Given the description of an element on the screen output the (x, y) to click on. 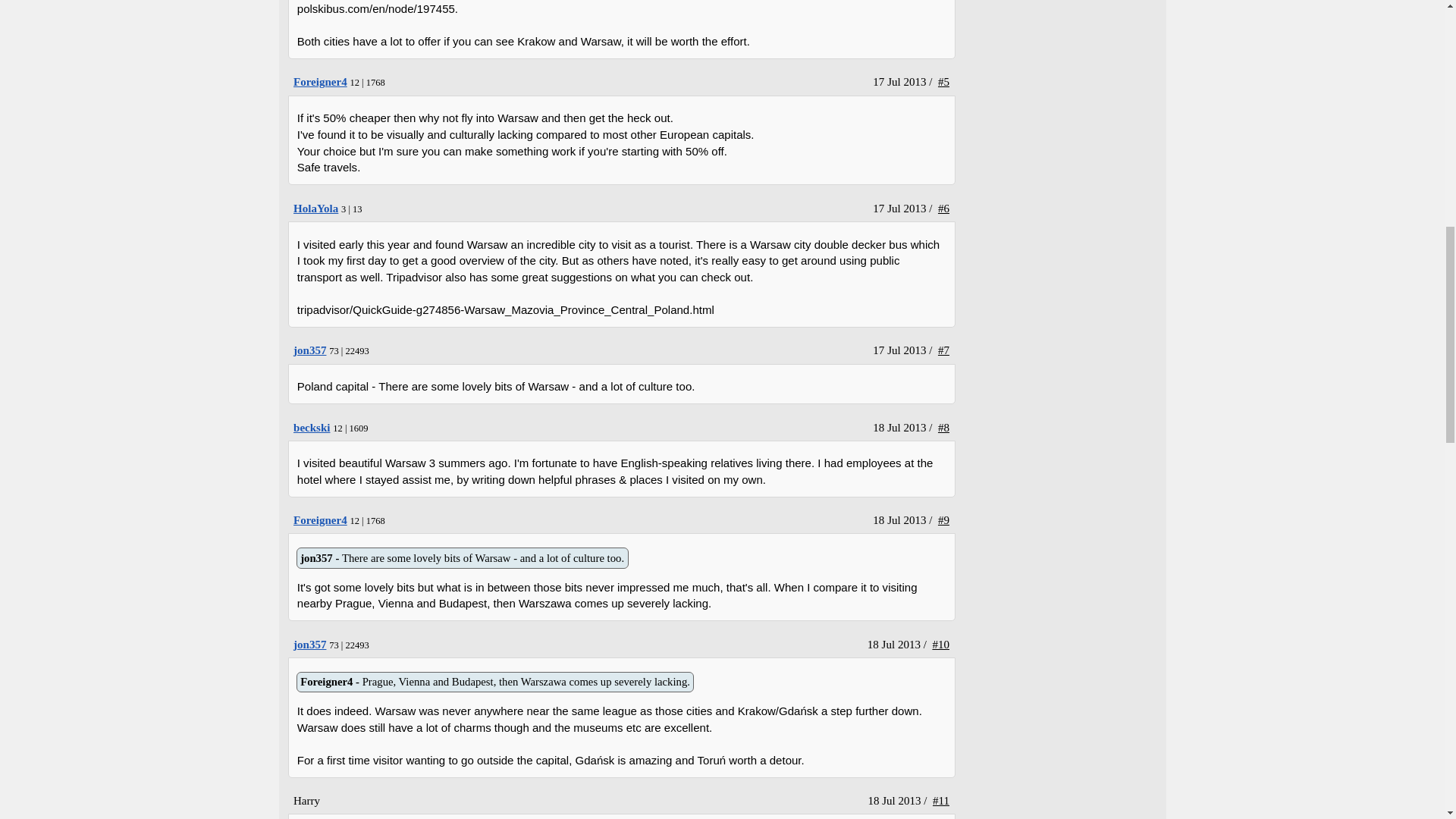
jon357 (312, 427)
beckski (310, 644)
Foreigner4 (312, 427)
jon357 (320, 520)
HolaYola (310, 349)
Foreigner4 (315, 208)
